Given the description of an element on the screen output the (x, y) to click on. 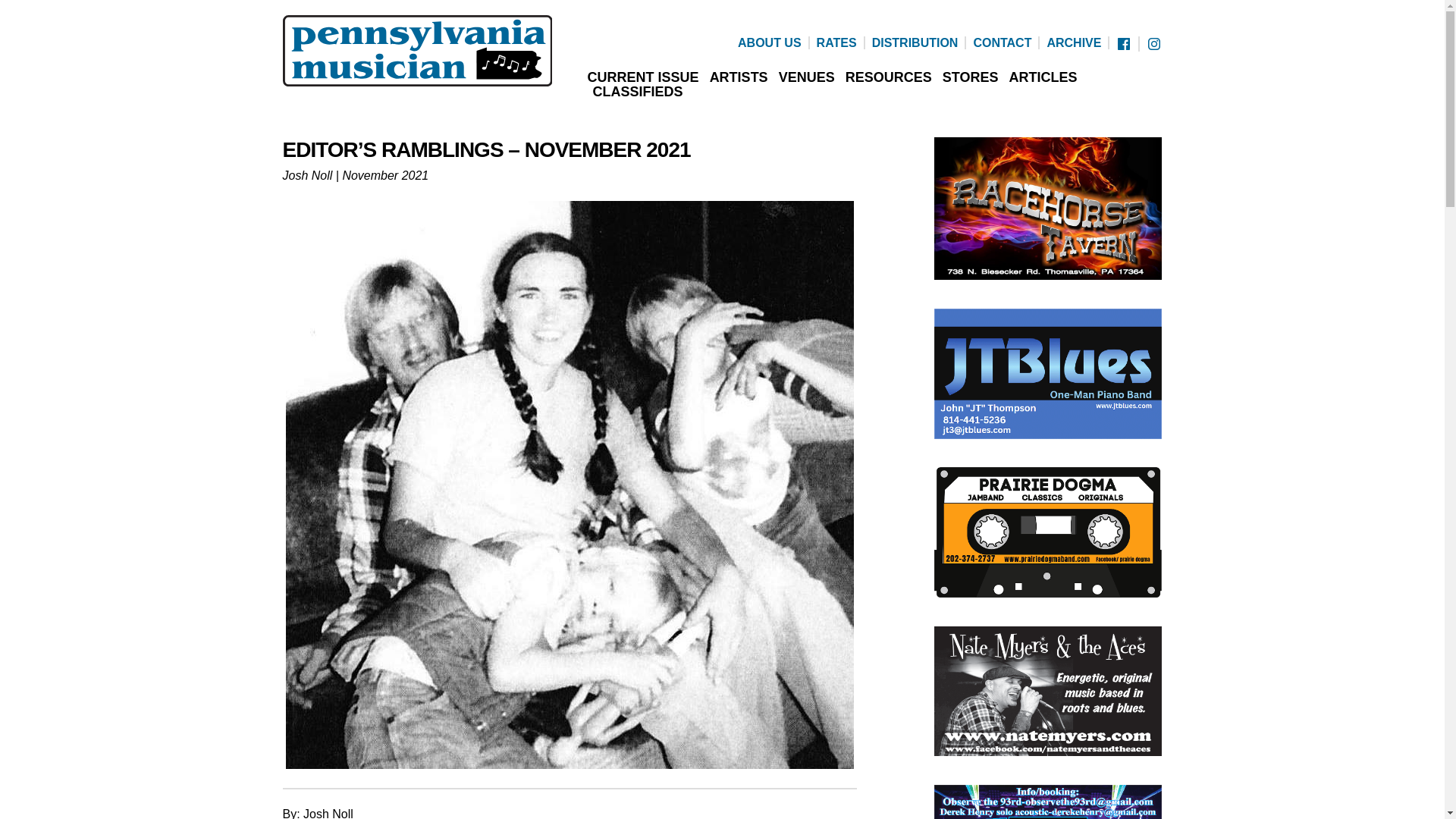
ARTICLES (1043, 77)
DISTRIBUTION (915, 42)
CONTACT (1001, 42)
About Us (770, 42)
Rates (836, 42)
Josh Noll (306, 174)
ARCHIVE (1073, 42)
ARTISTS (739, 77)
Contact (1001, 42)
Facebook (1123, 43)
